Given the description of an element on the screen output the (x, y) to click on. 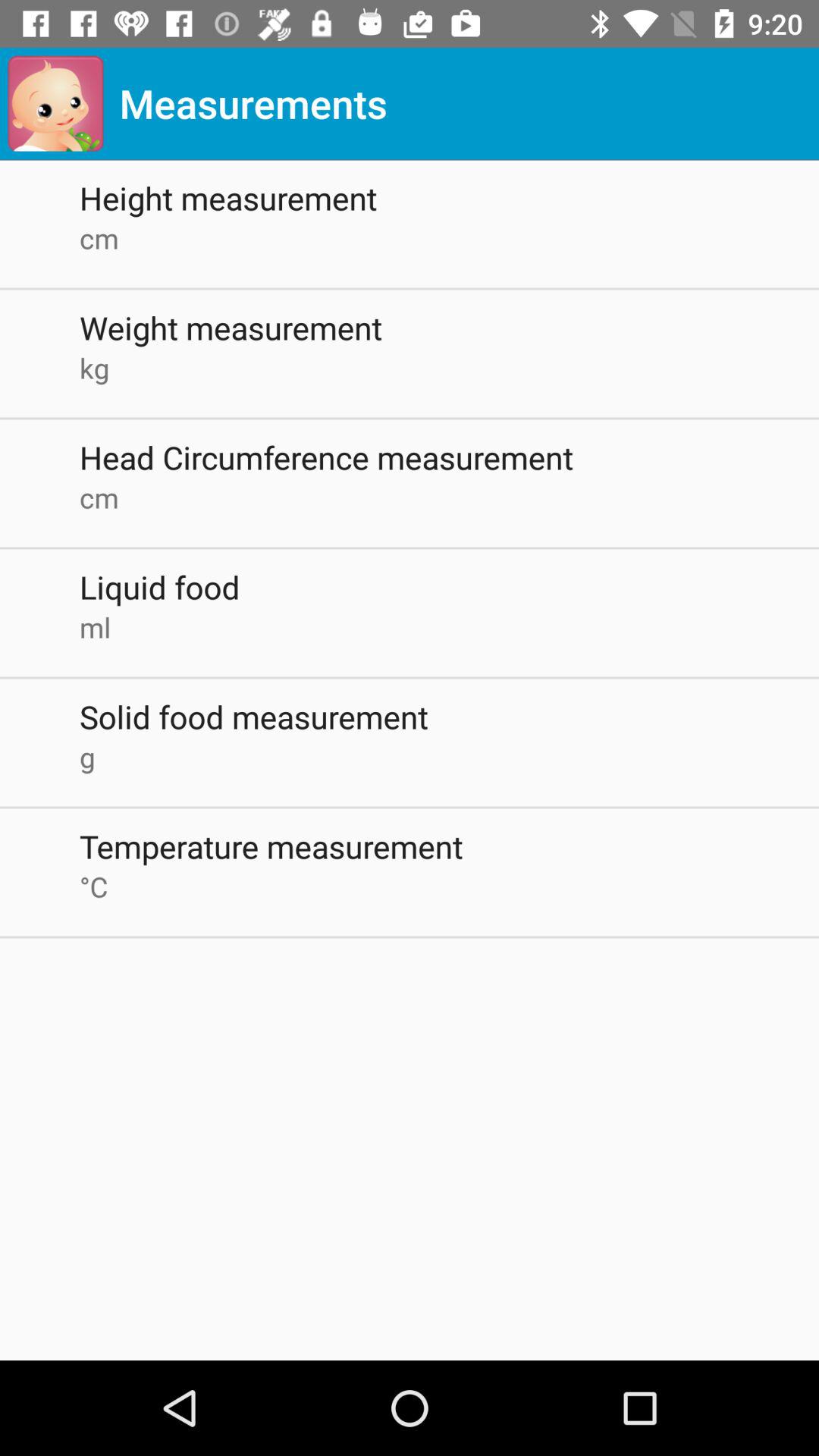
swipe to temperature measurement icon (449, 845)
